Given the description of an element on the screen output the (x, y) to click on. 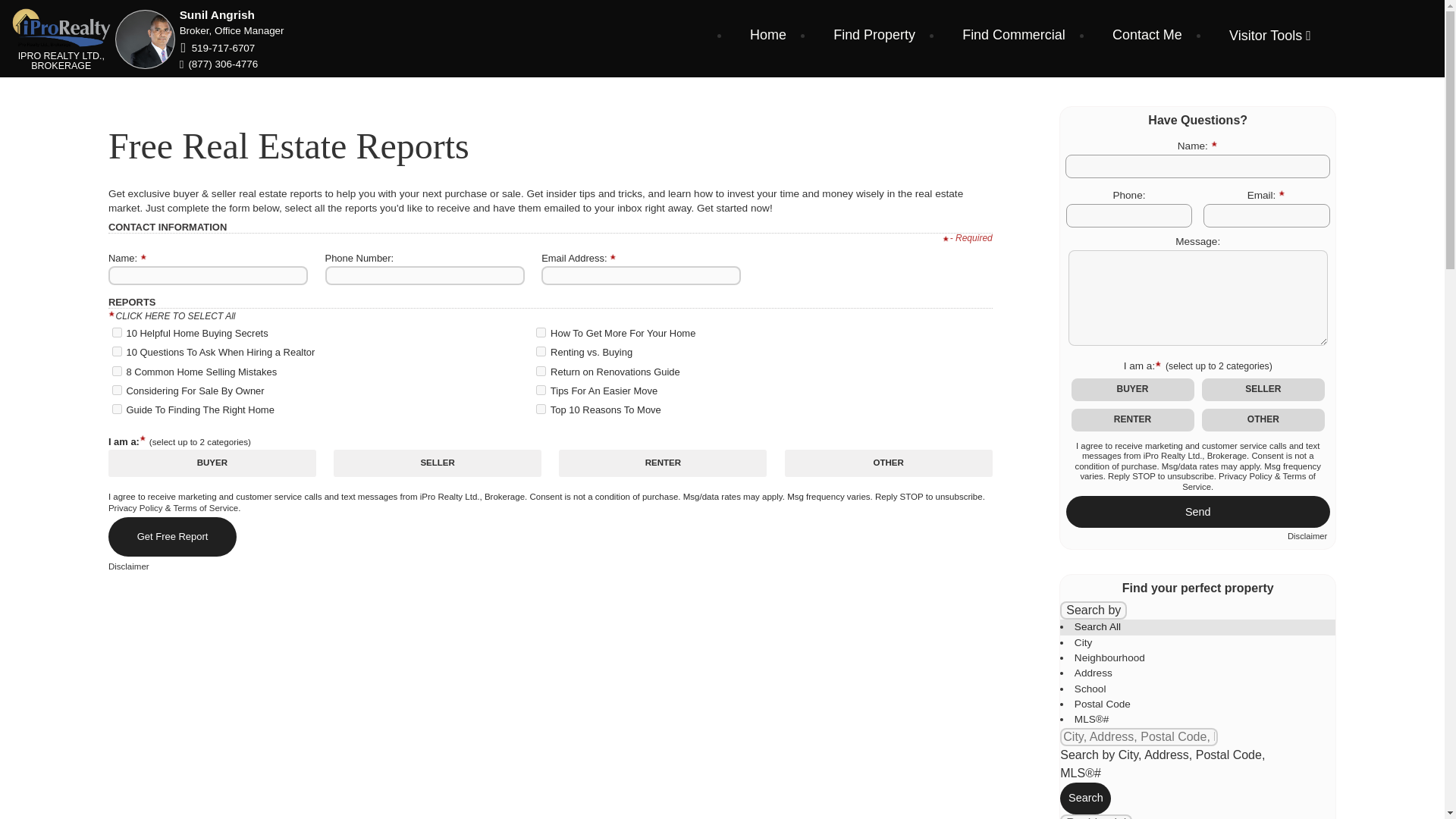
Send (1197, 511)
Terms of Service (205, 507)
Find Commercial (1013, 34)
CLICK HERE TO SELECT All (174, 316)
519-717-6707 (224, 48)
11 (117, 409)
8 (117, 351)
7 (117, 332)
Home (767, 34)
14 (540, 370)
Privacy Policy (135, 507)
9 (117, 370)
Terms of Service (1249, 481)
Contact Me (1146, 34)
Visitor Tools (1269, 35)
